Given the description of an element on the screen output the (x, y) to click on. 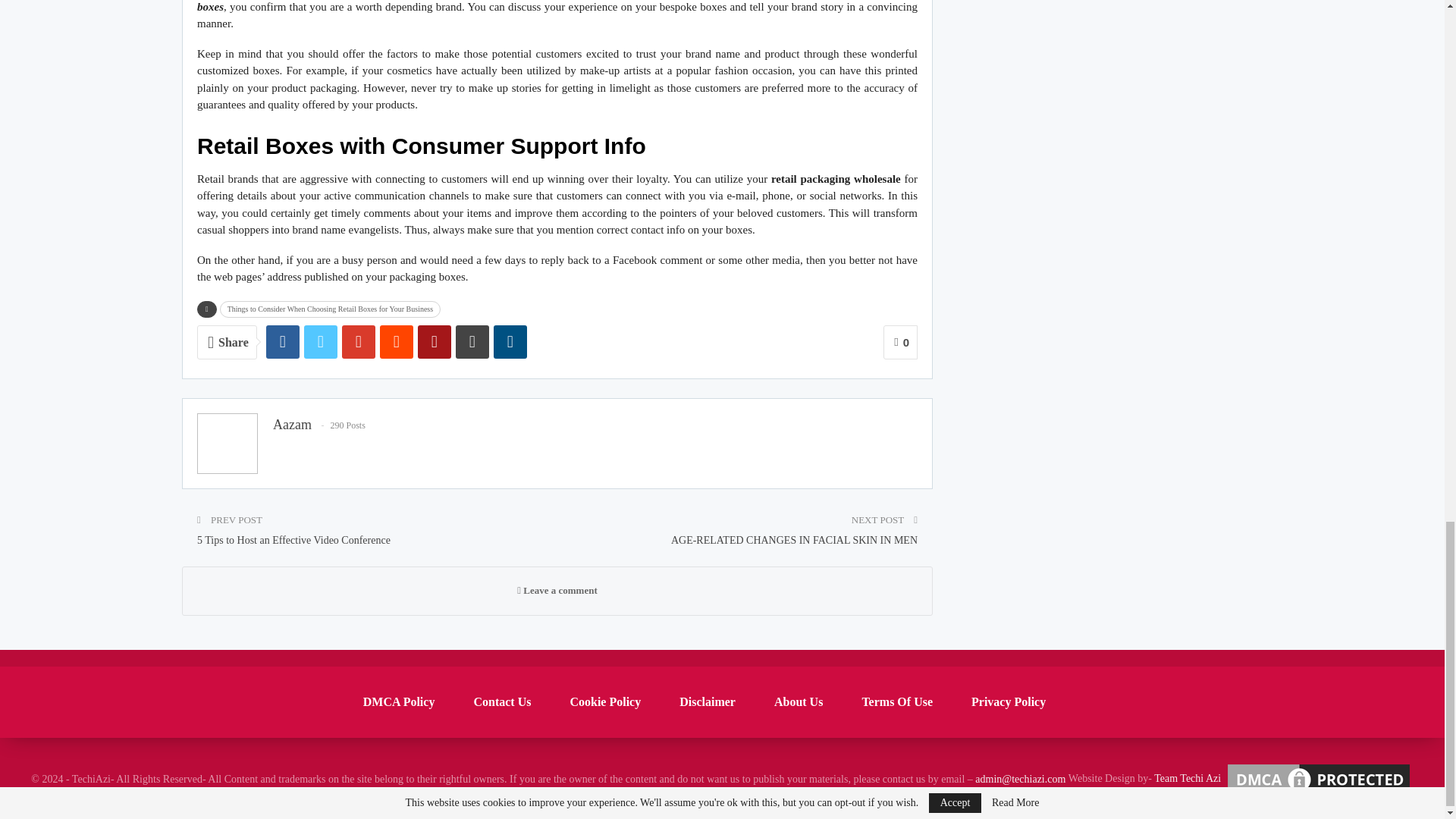
DMCA.com Protection Status (1318, 778)
